Given the description of an element on the screen output the (x, y) to click on. 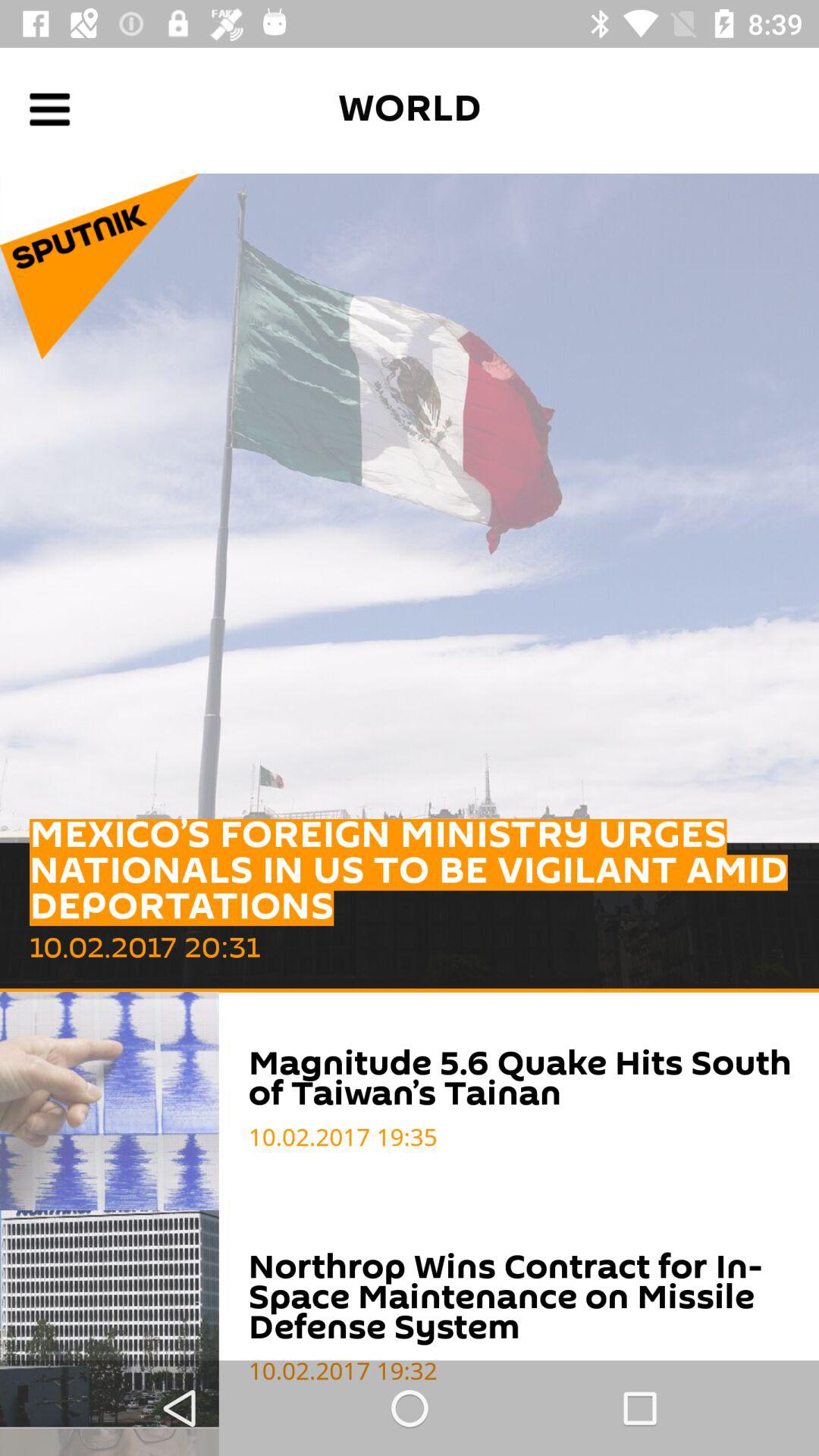
open navigation menu (49, 109)
